Given the description of an element on the screen output the (x, y) to click on. 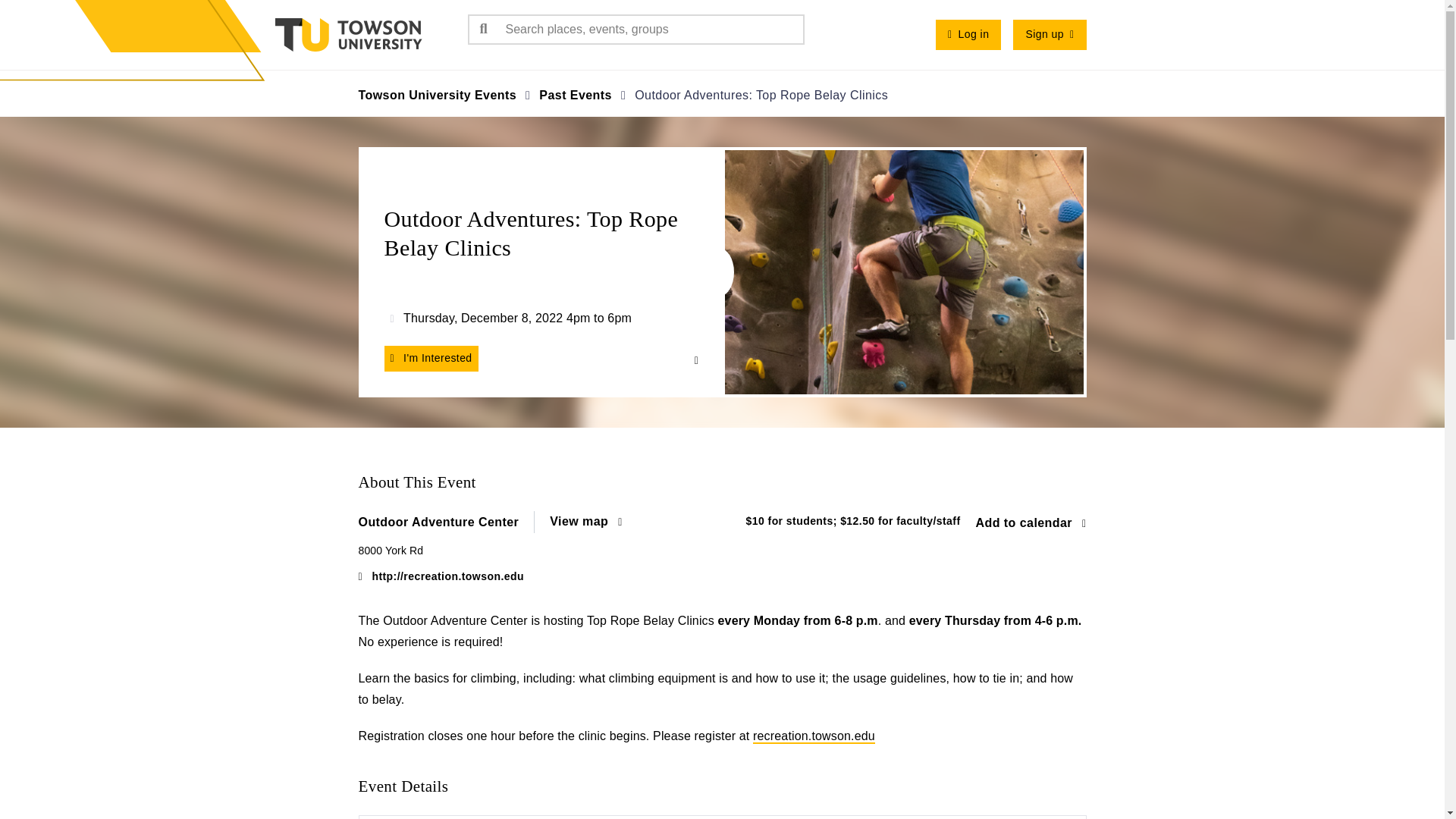
Sign up (1049, 34)
recreation.towson.edu (813, 736)
Past Events (574, 94)
Outdoor Adventure Center (446, 522)
Add to calendar (1030, 523)
I'm Interested (430, 358)
View map (585, 521)
Towson University Events (437, 94)
Log in (968, 34)
